Given the description of an element on the screen output the (x, y) to click on. 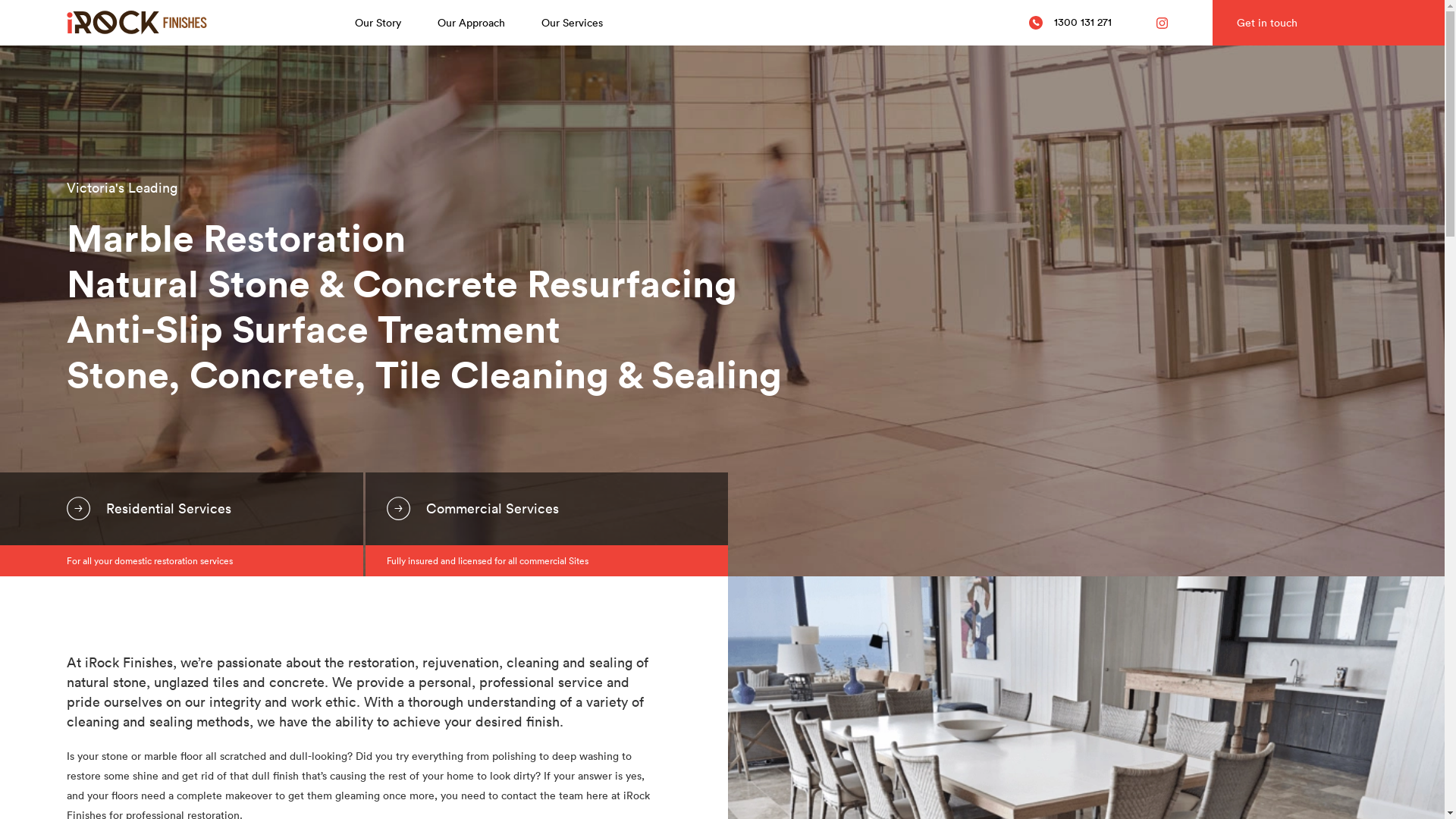
Get in touch Element type: text (1328, 22)
Residential Services Element type: text (181, 508)
Commercial Services Element type: text (546, 508)
Our Story Element type: text (377, 22)
1300 131 271 Element type: text (1070, 22)
Our Approach Element type: text (470, 22)
